Given the description of an element on the screen output the (x, y) to click on. 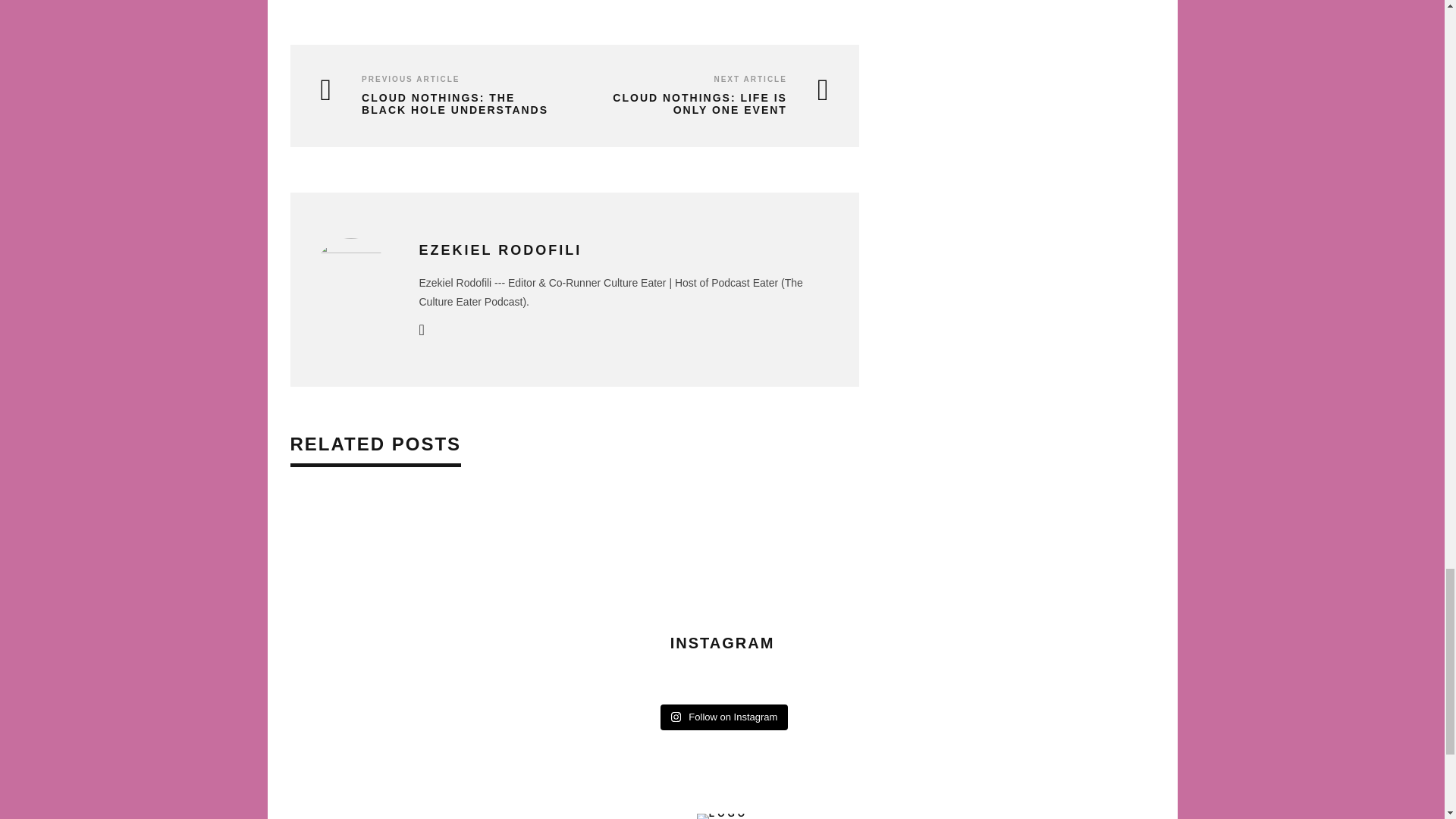
CLOUD NOTHINGS: THE BLACK HOLE UNDERSTANDS (435, 104)
CLOUD NOTHINGS: LIFE IS ONLY ONE EVENT (705, 104)
NEXT ARTICLE (749, 79)
PREVIOUS ARTICLE (410, 79)
EZEKIEL RODOFILI (499, 249)
